Given the description of an element on the screen output the (x, y) to click on. 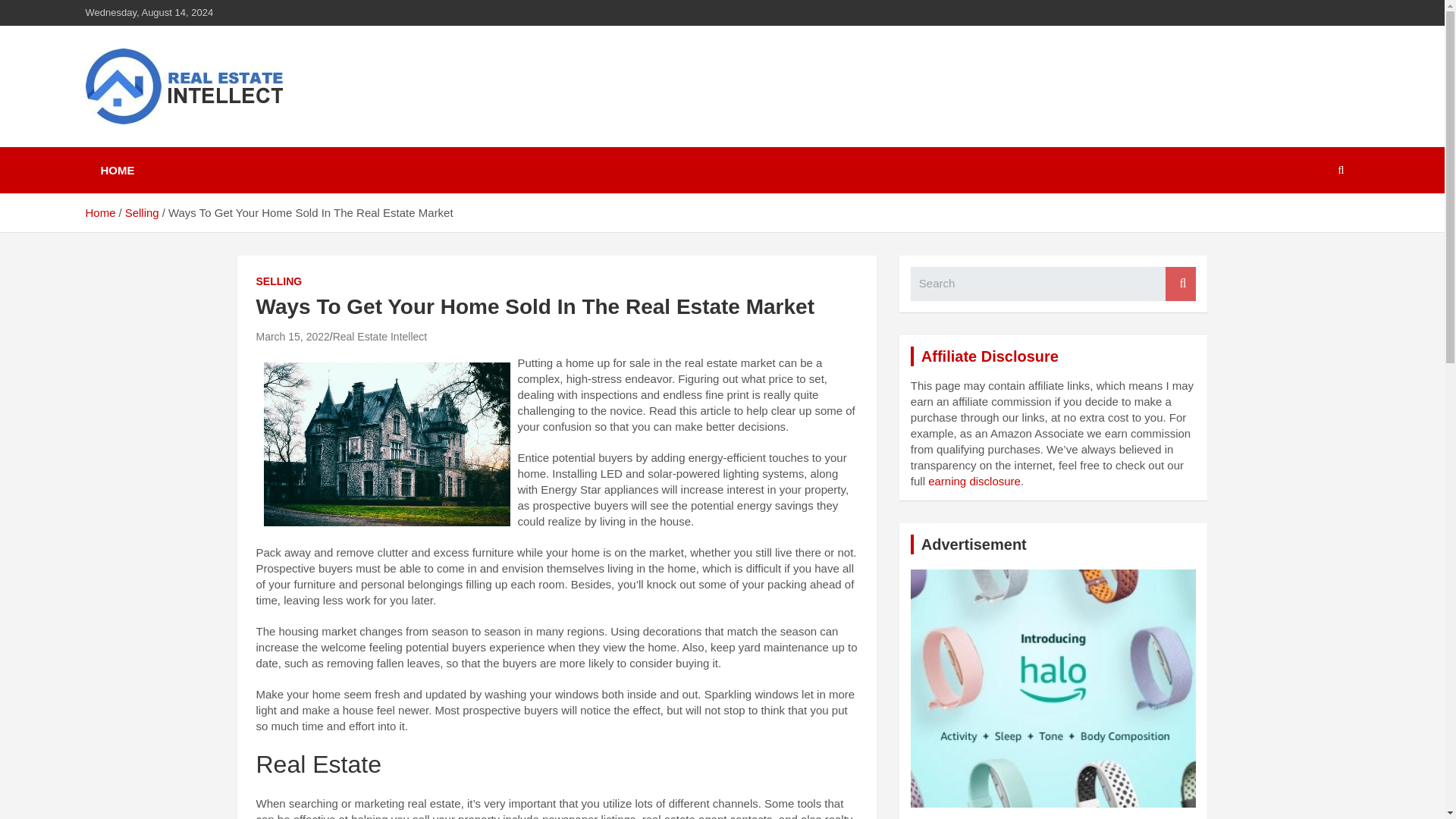
Affiliate Disclosure (989, 356)
HOME (116, 170)
March 15, 2022 (293, 336)
Home (99, 212)
Real Estate Intellect (227, 143)
SELLING (279, 281)
Real Estate Intellect (380, 336)
Selling (141, 212)
earning disclosure (974, 481)
Search (1180, 283)
